Given the description of an element on the screen output the (x, y) to click on. 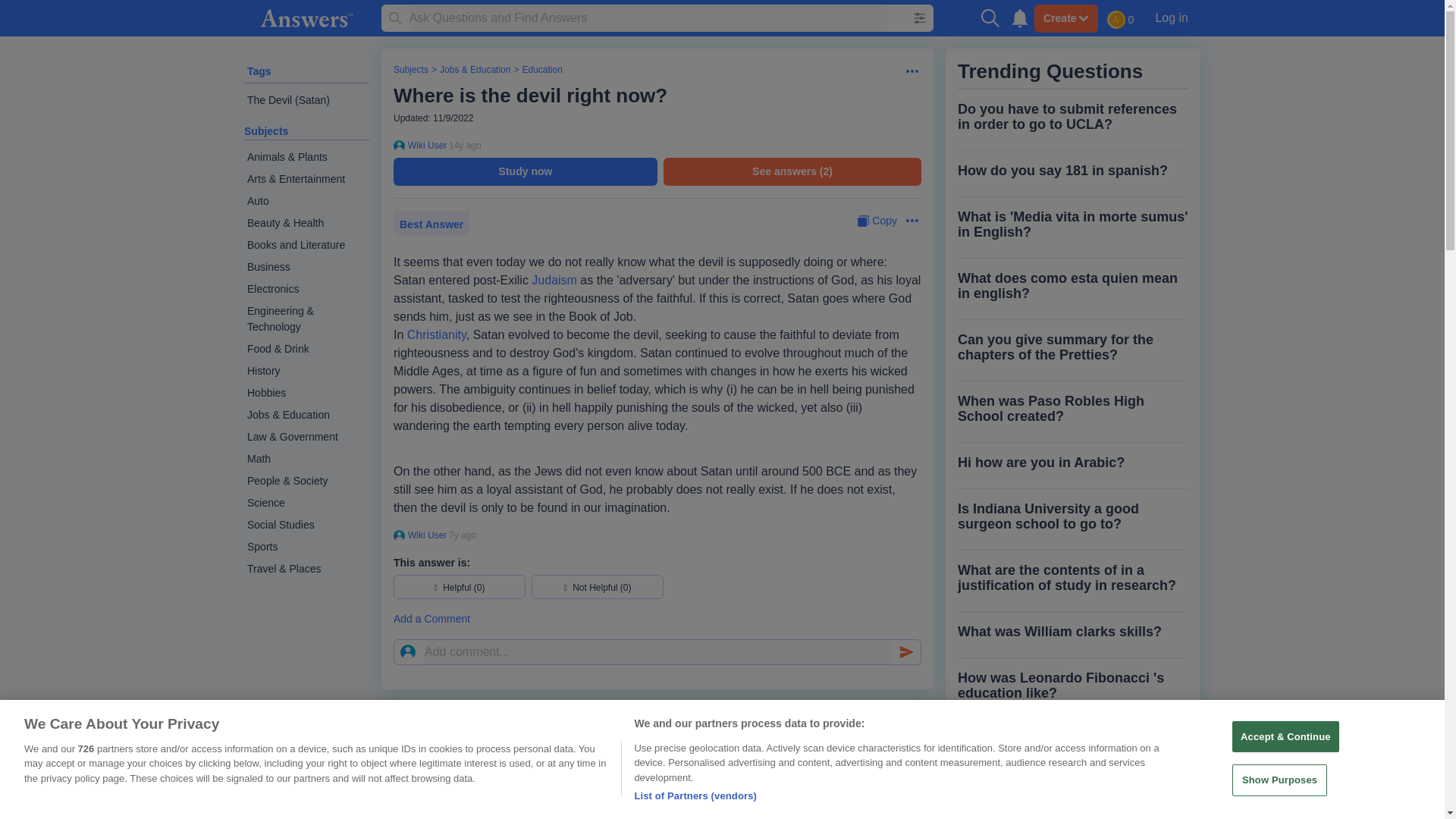
Subjects (266, 131)
Study now (525, 171)
Social Studies (306, 525)
Hobbies (306, 393)
Tags (258, 70)
2010-07-04 11:38:19 (464, 145)
Auto (306, 201)
Wiki User (425, 535)
Subjects (410, 69)
Sports (306, 546)
